Given the description of an element on the screen output the (x, y) to click on. 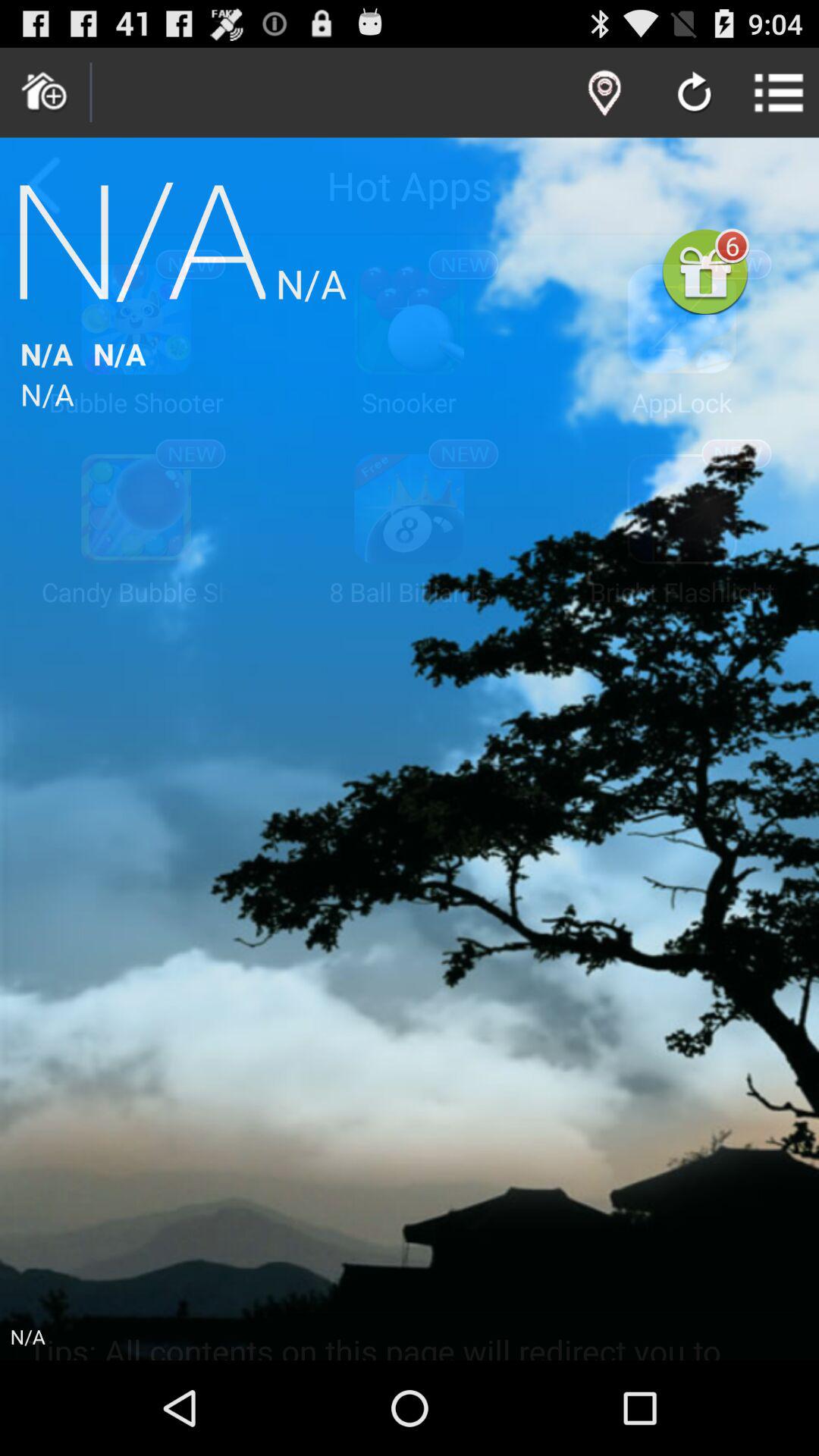
return to the hime screen (44, 92)
